Given the description of an element on the screen output the (x, y) to click on. 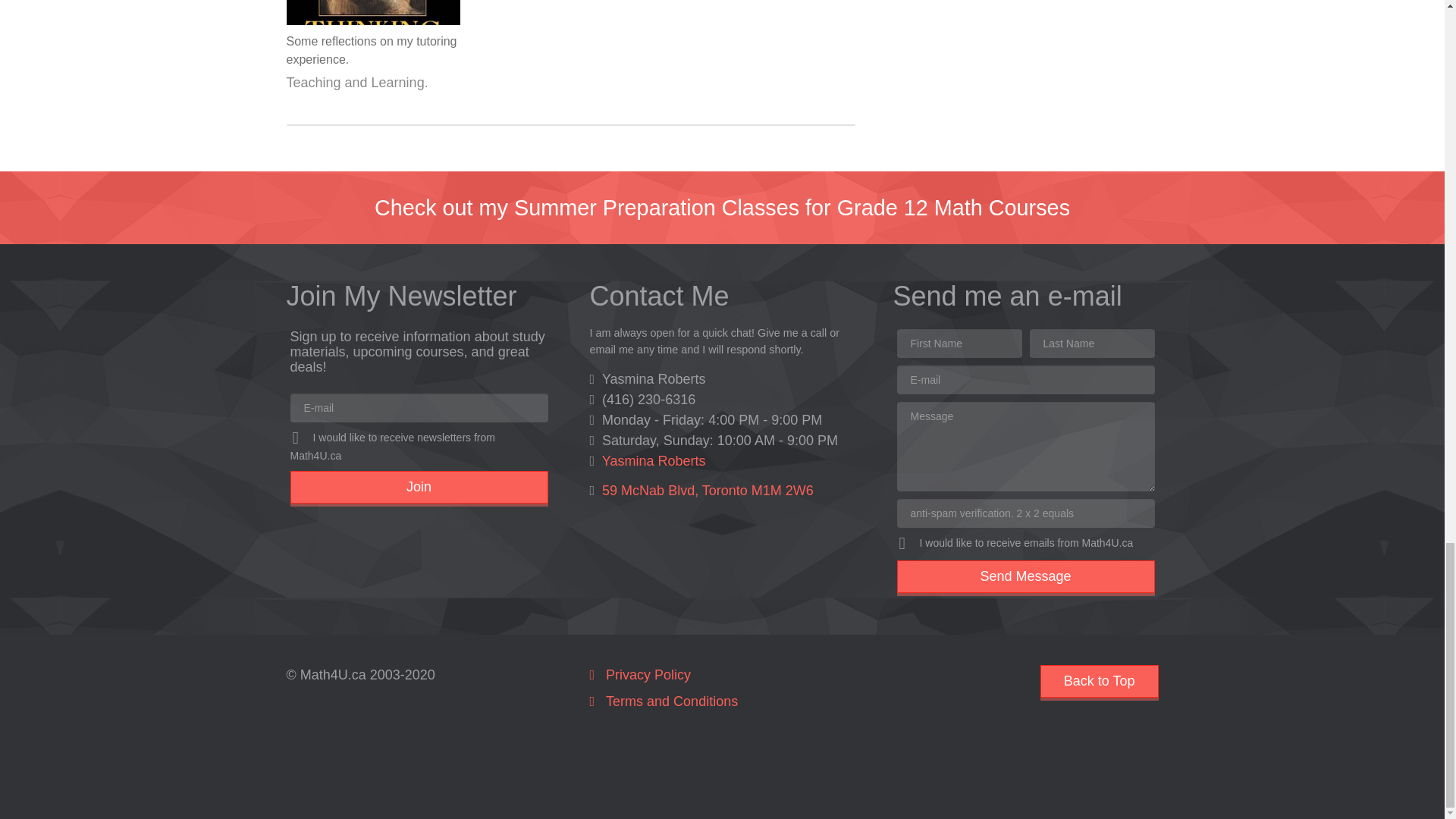
Join (418, 486)
Send Message (1025, 576)
